Given the description of an element on the screen output the (x, y) to click on. 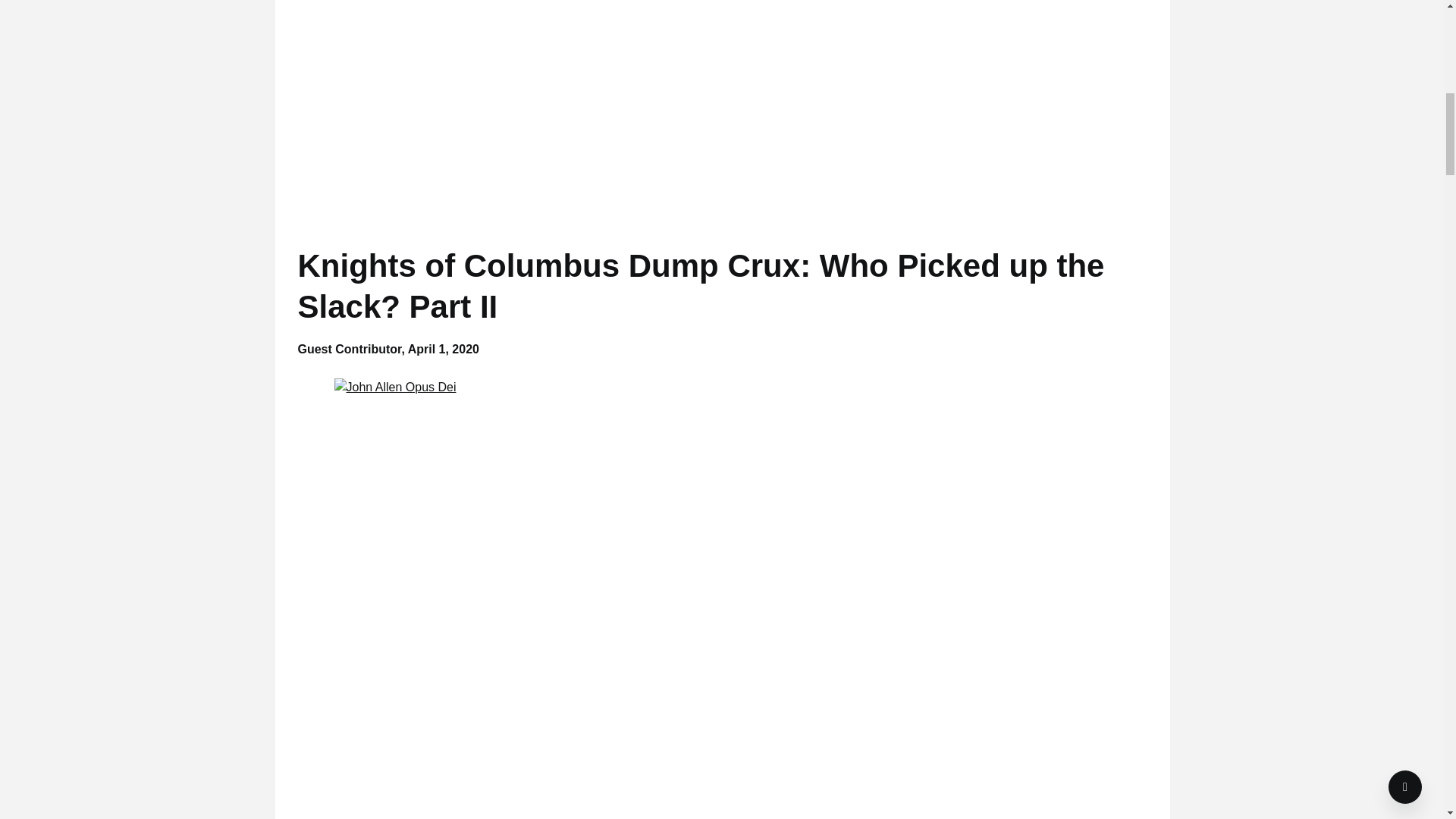
April 1, 2020 (443, 349)
